Given the description of an element on the screen output the (x, y) to click on. 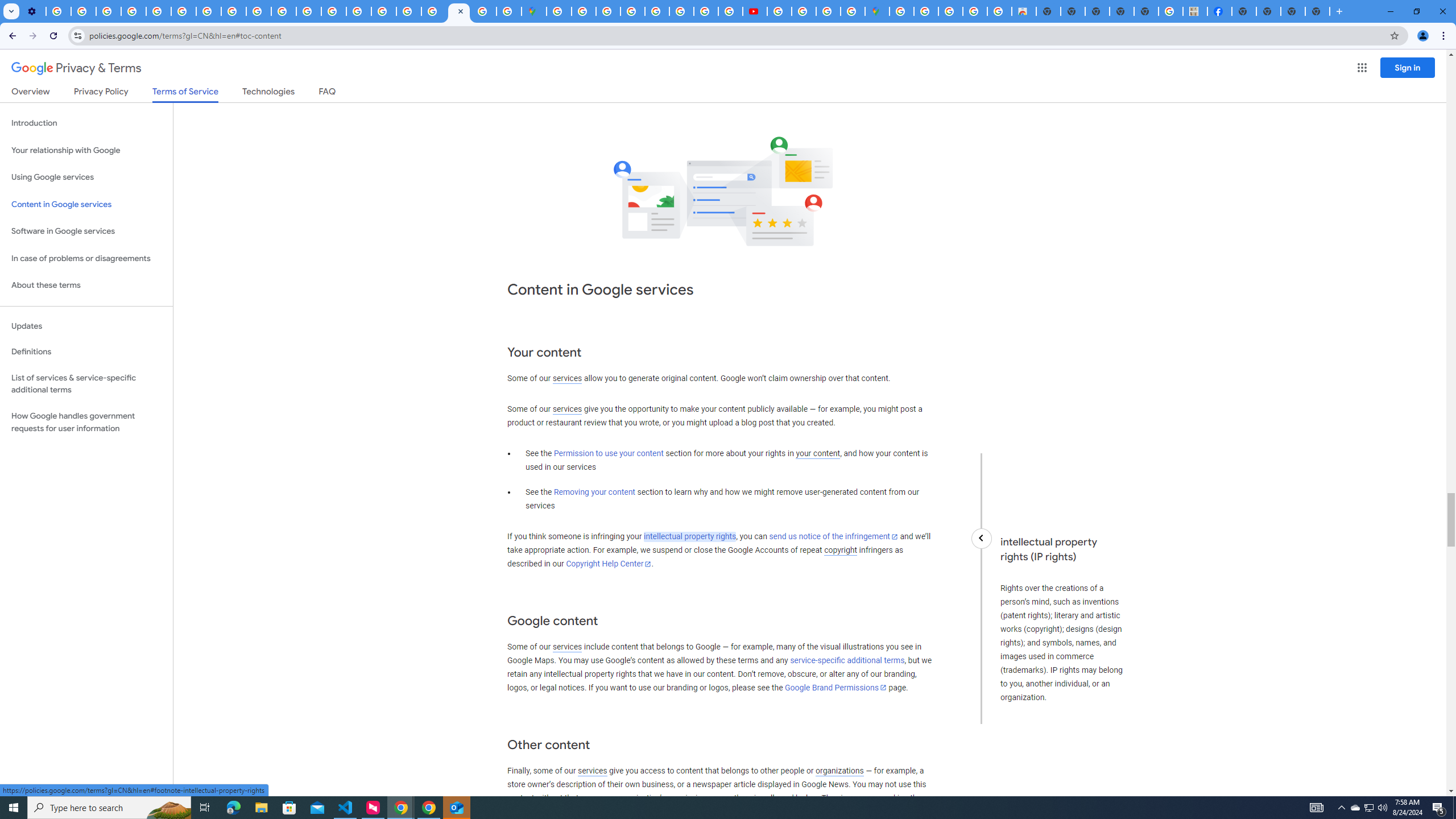
Google Maps (533, 11)
How Chrome protects your passwords - Google Chrome Help (778, 11)
Privacy Checkup (258, 11)
Using Google services (86, 176)
Sign in - Google Accounts (558, 11)
Google Maps (876, 11)
your content (817, 453)
https://scholar.google.com/ (308, 11)
YouTube (182, 11)
